Given the description of an element on the screen output the (x, y) to click on. 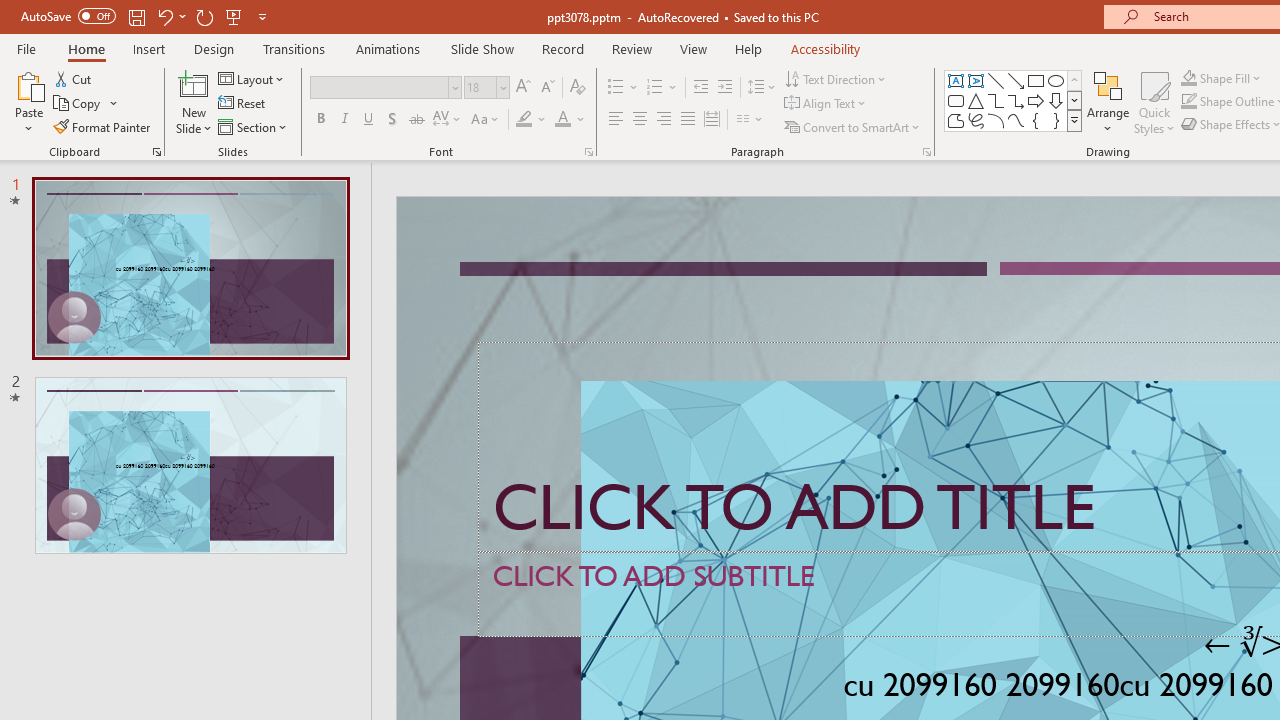
Arrange (1108, 102)
Paragraph... (926, 151)
Font (379, 87)
Row Down (1074, 100)
Isosceles Triangle (975, 100)
Justify (687, 119)
Paste (28, 84)
Rectangle (1035, 80)
Connector: Elbow Arrow (1016, 100)
Shape Outline Green, Accent 1 (1188, 101)
Decrease Font Size (547, 87)
Line Arrow (1016, 80)
